Given the description of an element on the screen output the (x, y) to click on. 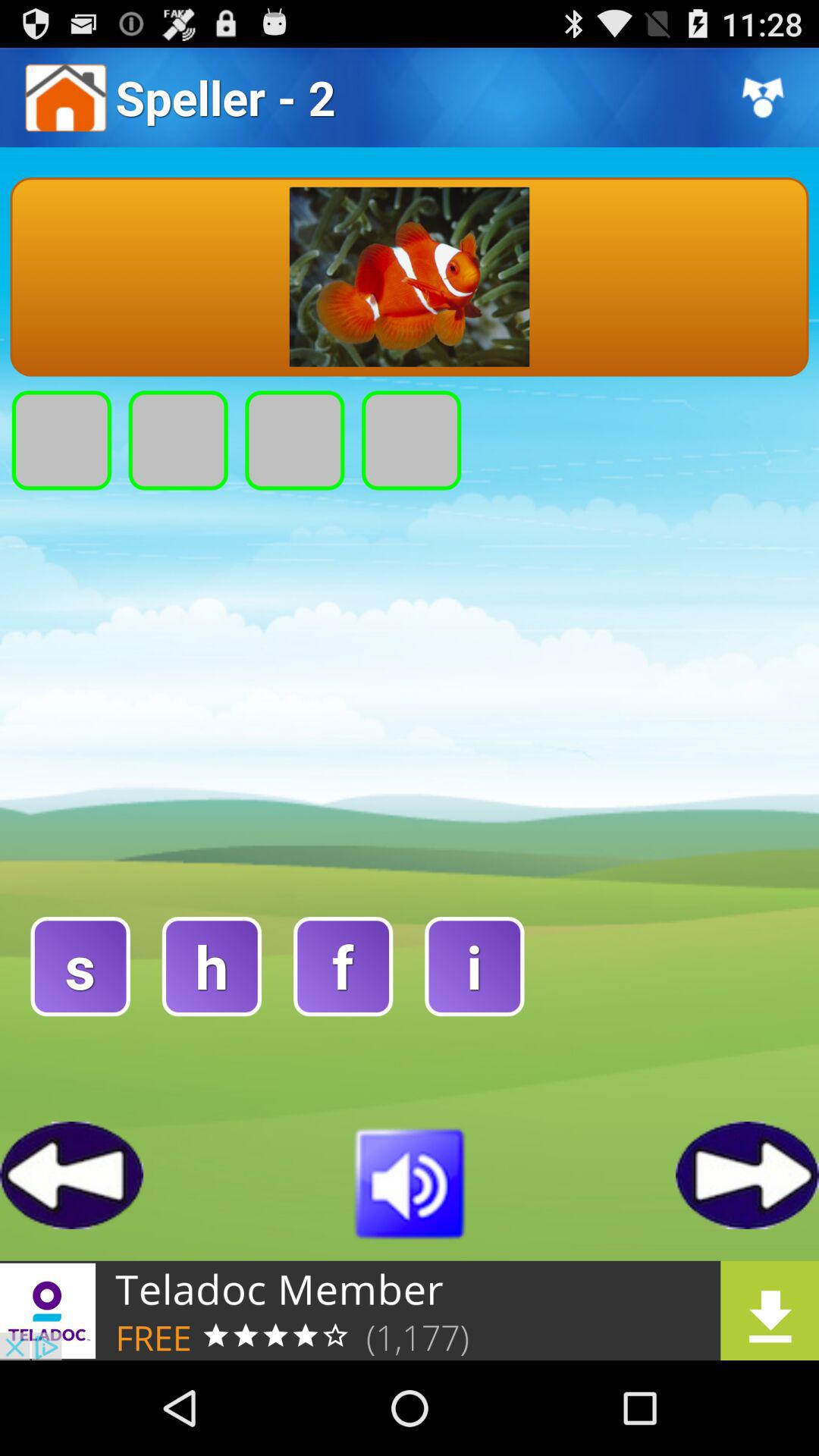
go to next (747, 1175)
